Given the description of an element on the screen output the (x, y) to click on. 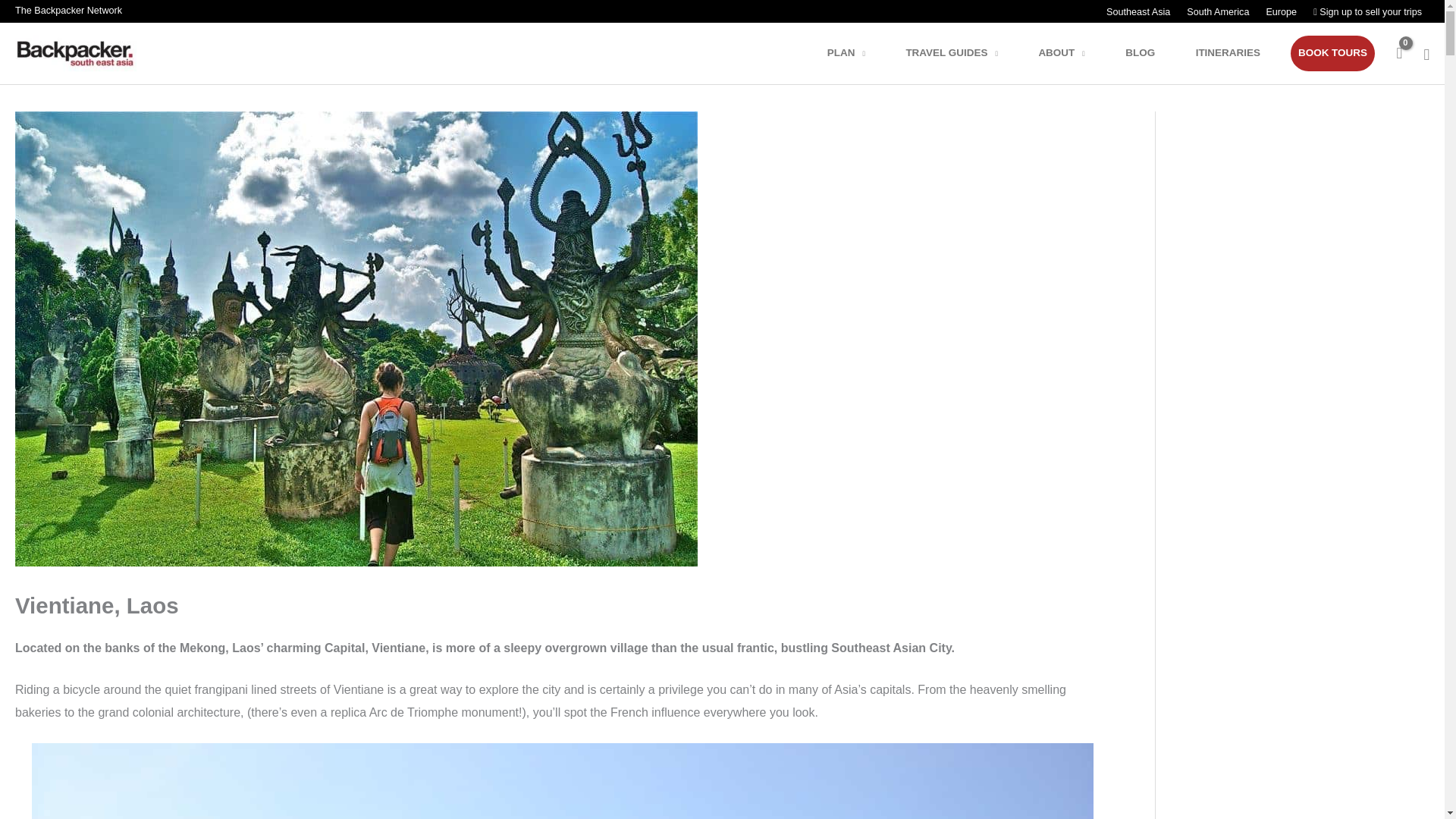
South America (1216, 12)
BOOK TOURS (1332, 53)
TRAVEL GUIDES (961, 53)
PLAN (855, 53)
Southeast Asia (1137, 12)
Europe (1280, 12)
BLOG (1150, 53)
ABOUT (1071, 53)
ITINERARIES (1237, 53)
